Given the description of an element on the screen output the (x, y) to click on. 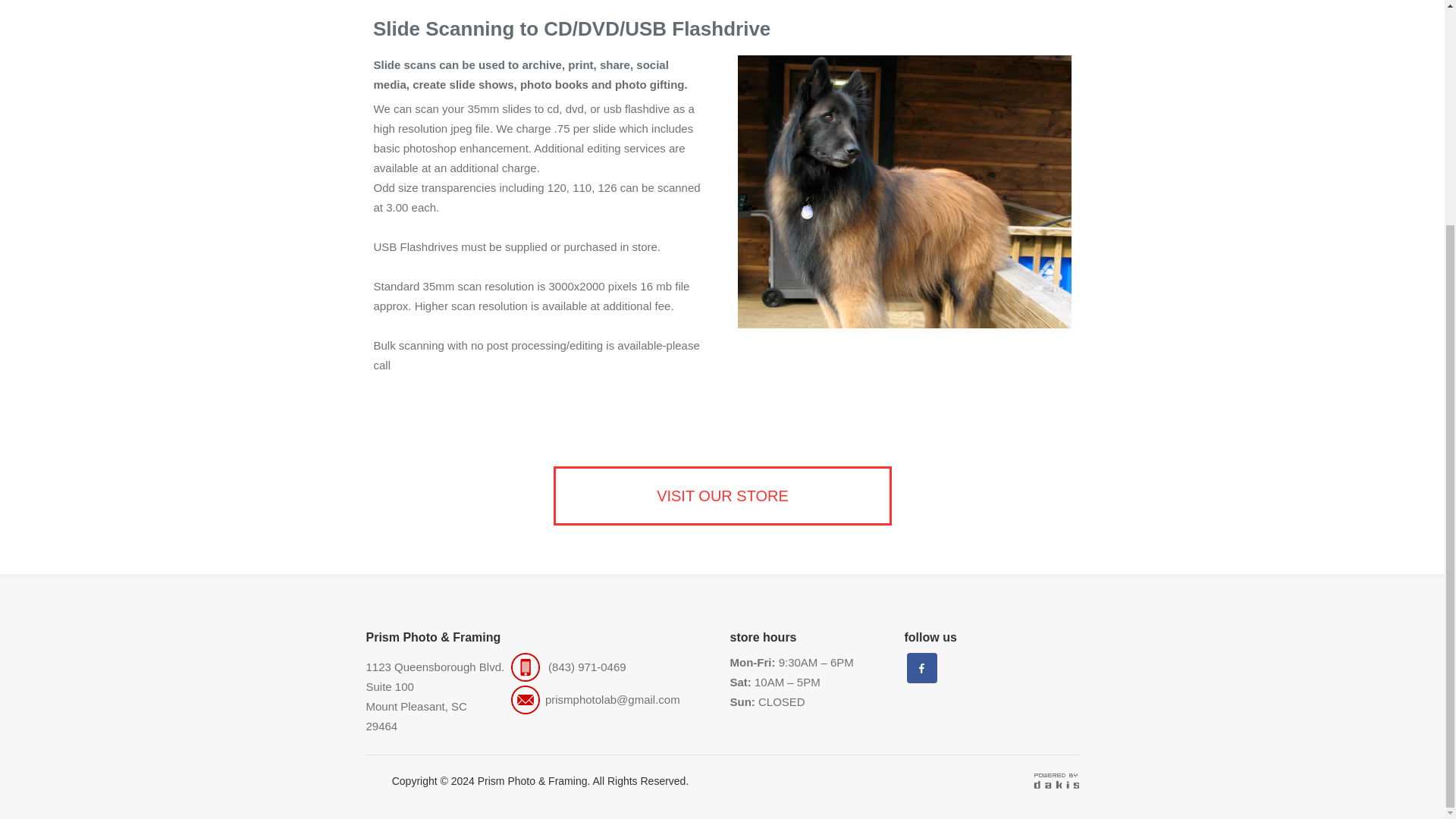
VISIT OUR STORE (722, 495)
